Given the description of an element on the screen output the (x, y) to click on. 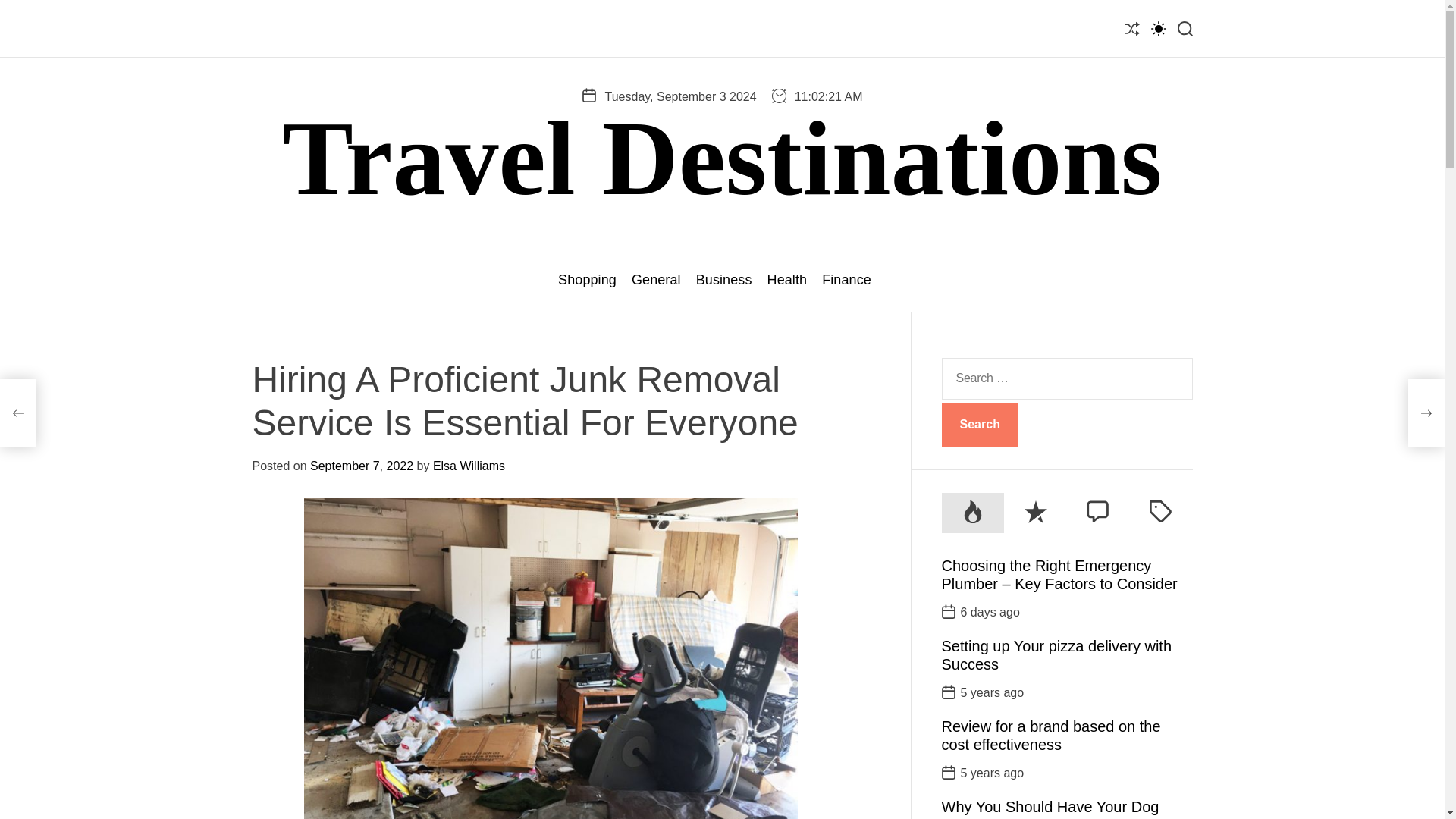
Review for a brand based on the cost effectiveness (1051, 735)
Health (787, 280)
Popular (973, 513)
Tagged (1160, 513)
September 7, 2022 (361, 465)
Comment (1098, 513)
Shopping (586, 280)
Elsa Williams (468, 465)
Search (979, 424)
Search (979, 424)
